Given the description of an element on the screen output the (x, y) to click on. 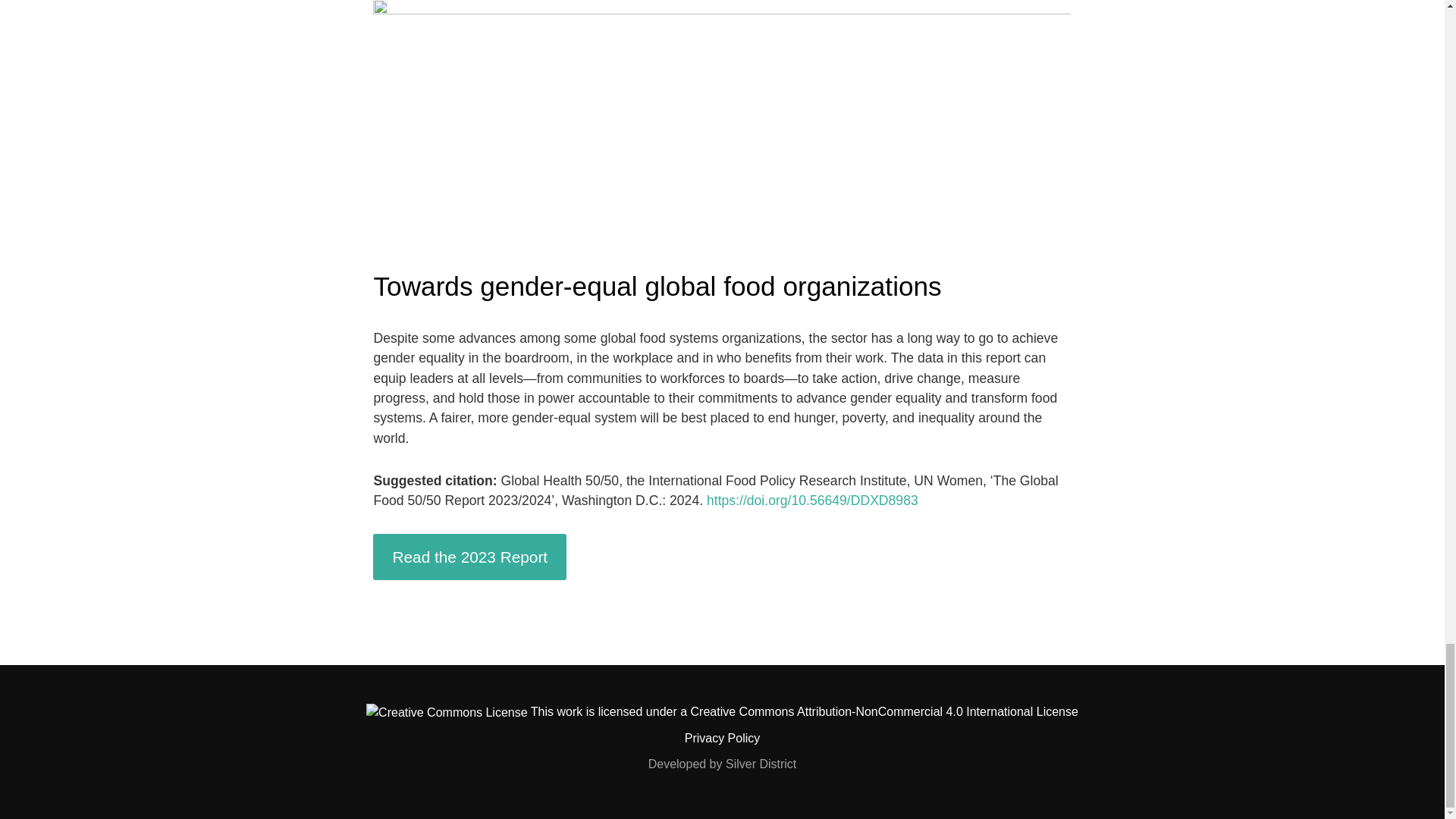
Privacy Policy (722, 738)
Silver District (760, 763)
Read the 2023 Report (469, 556)
